Given the description of an element on the screen output the (x, y) to click on. 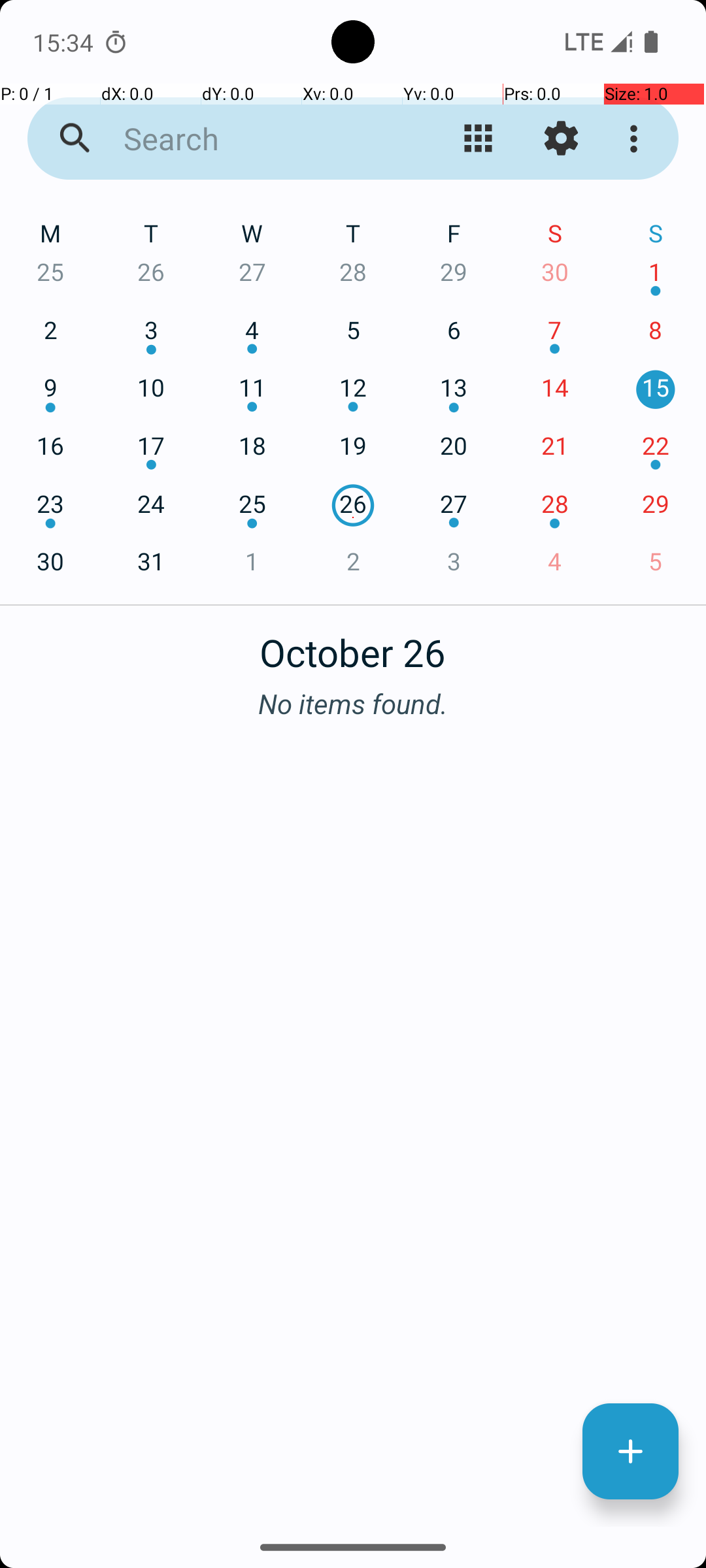
October 26 Element type: android.widget.TextView (352, 644)
